Given the description of an element on the screen output the (x, y) to click on. 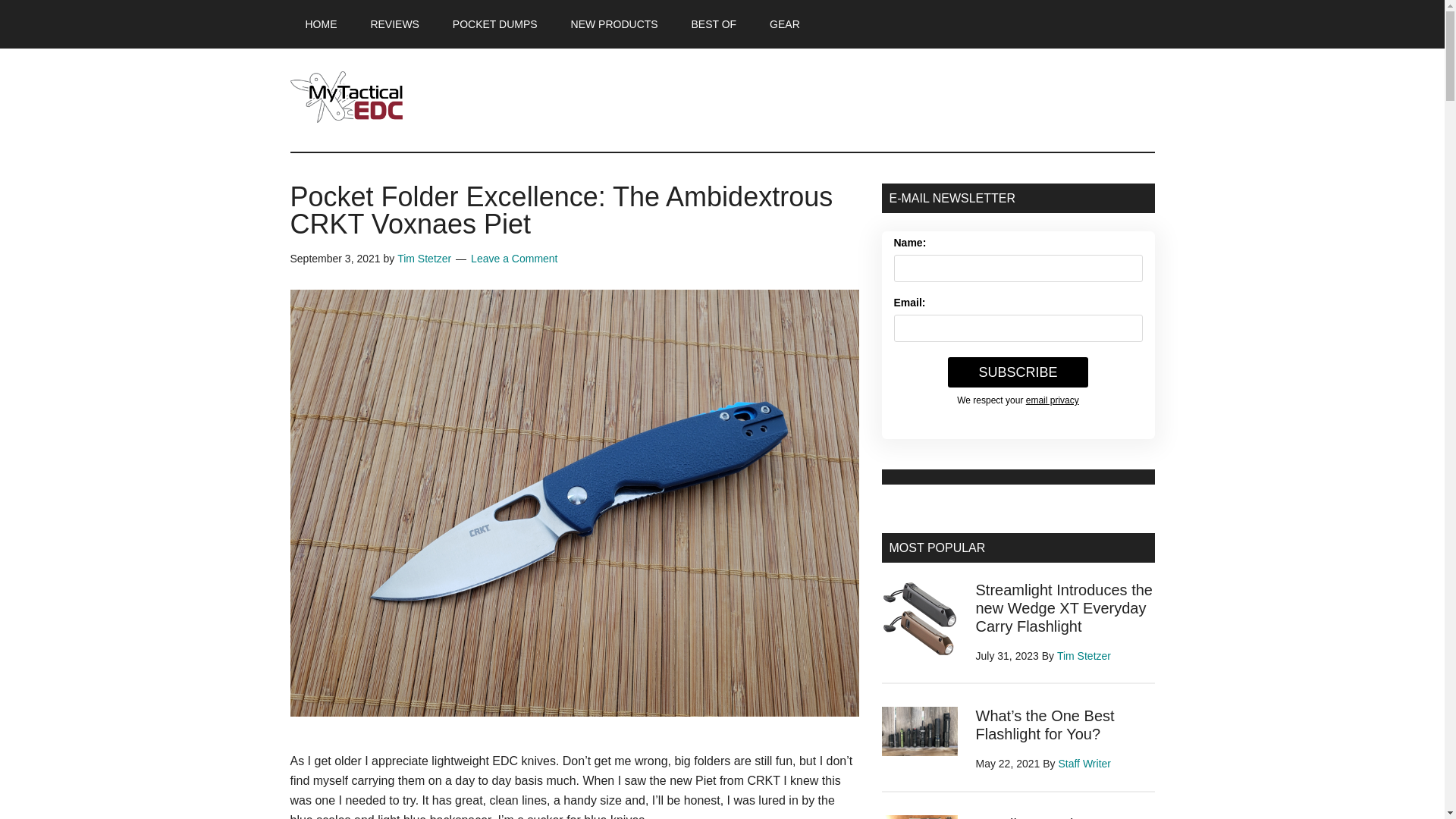
BEST OF (714, 24)
NEW PRODUCTS (614, 24)
POCKET DUMPS (495, 24)
Leave a Comment (513, 258)
REVIEWS (394, 24)
Privacy Policy (1052, 399)
HOME (320, 24)
email privacy (1052, 399)
GEAR (784, 24)
Tim Stetzer (424, 258)
SUBSCRIBE (1017, 372)
Tim Stetzer (1083, 655)
SUBSCRIBE (1017, 372)
